Given the description of an element on the screen output the (x, y) to click on. 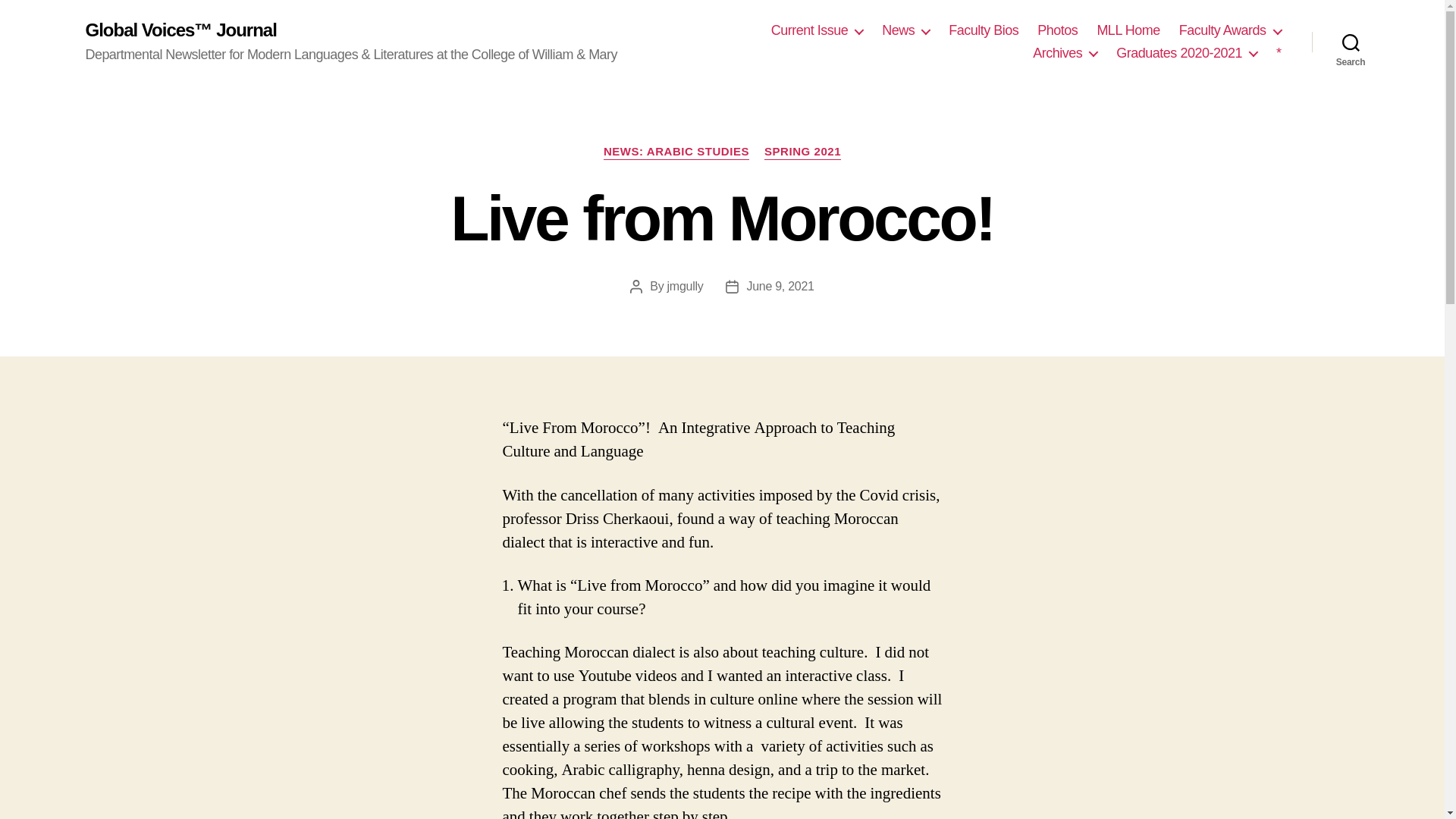
MLL Home (1127, 30)
Faculty Bios (983, 30)
Archives (1064, 53)
News (906, 30)
Photos (1056, 30)
Current Issue (817, 30)
Faculty Awards (1230, 30)
